Given the description of an element on the screen output the (x, y) to click on. 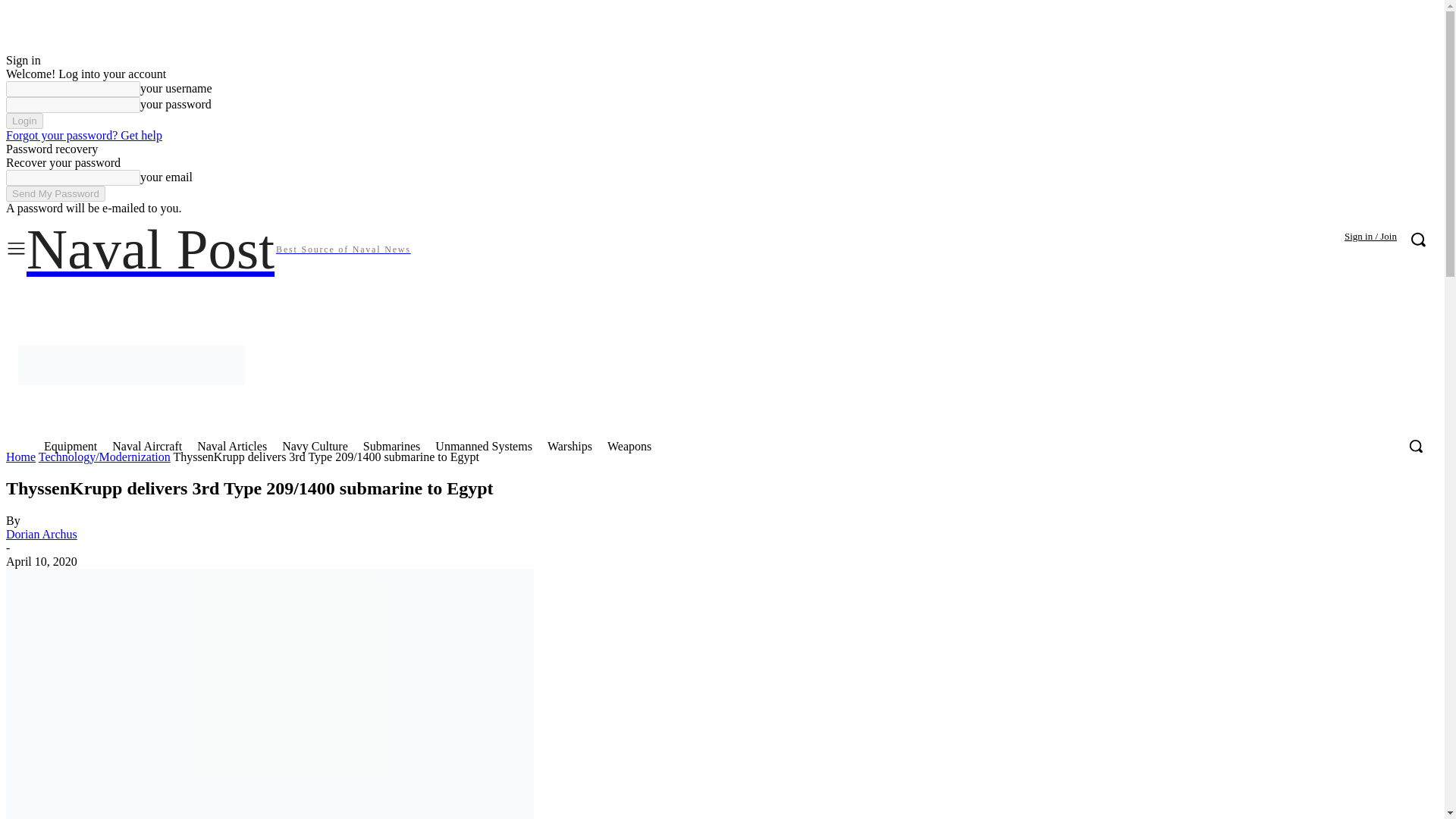
Instagram (1135, 297)
Mail (1198, 297)
Warships (569, 446)
Equipment (218, 249)
Send My Password (70, 446)
Twitter (54, 193)
Naval Aircraft (1293, 297)
Unmanned Systems (146, 446)
Home (484, 446)
